Given the description of an element on the screen output the (x, y) to click on. 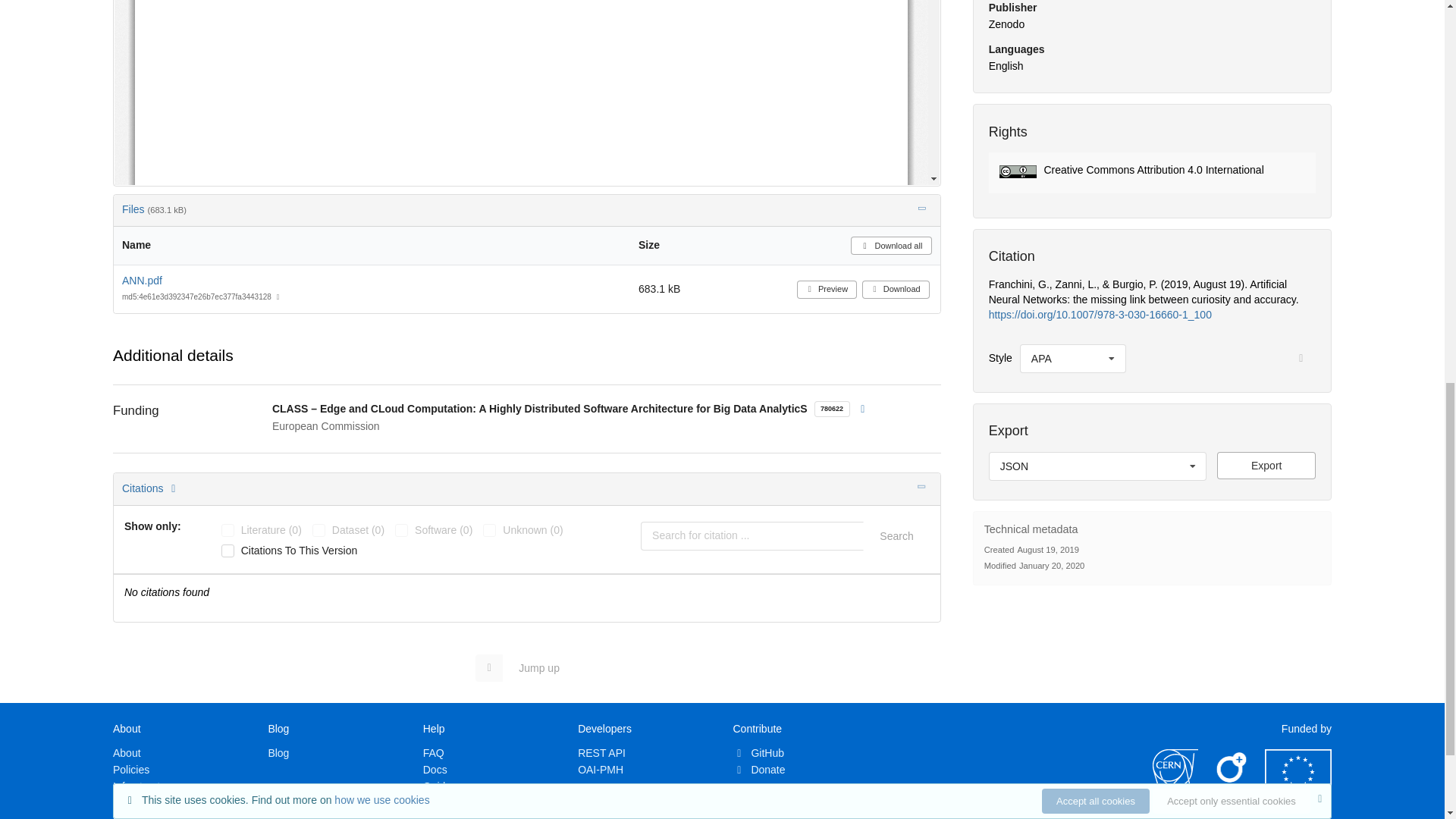
About (127, 752)
Download file (1266, 465)
Download (895, 289)
ANN.pdf (141, 280)
Search (895, 535)
Projects (132, 816)
Export (1266, 465)
Jump up (525, 667)
Blog (277, 752)
Preview (826, 289)
Principles (135, 802)
Infrastructure (143, 786)
Policies (131, 769)
Download all (890, 245)
